Given the description of an element on the screen output the (x, y) to click on. 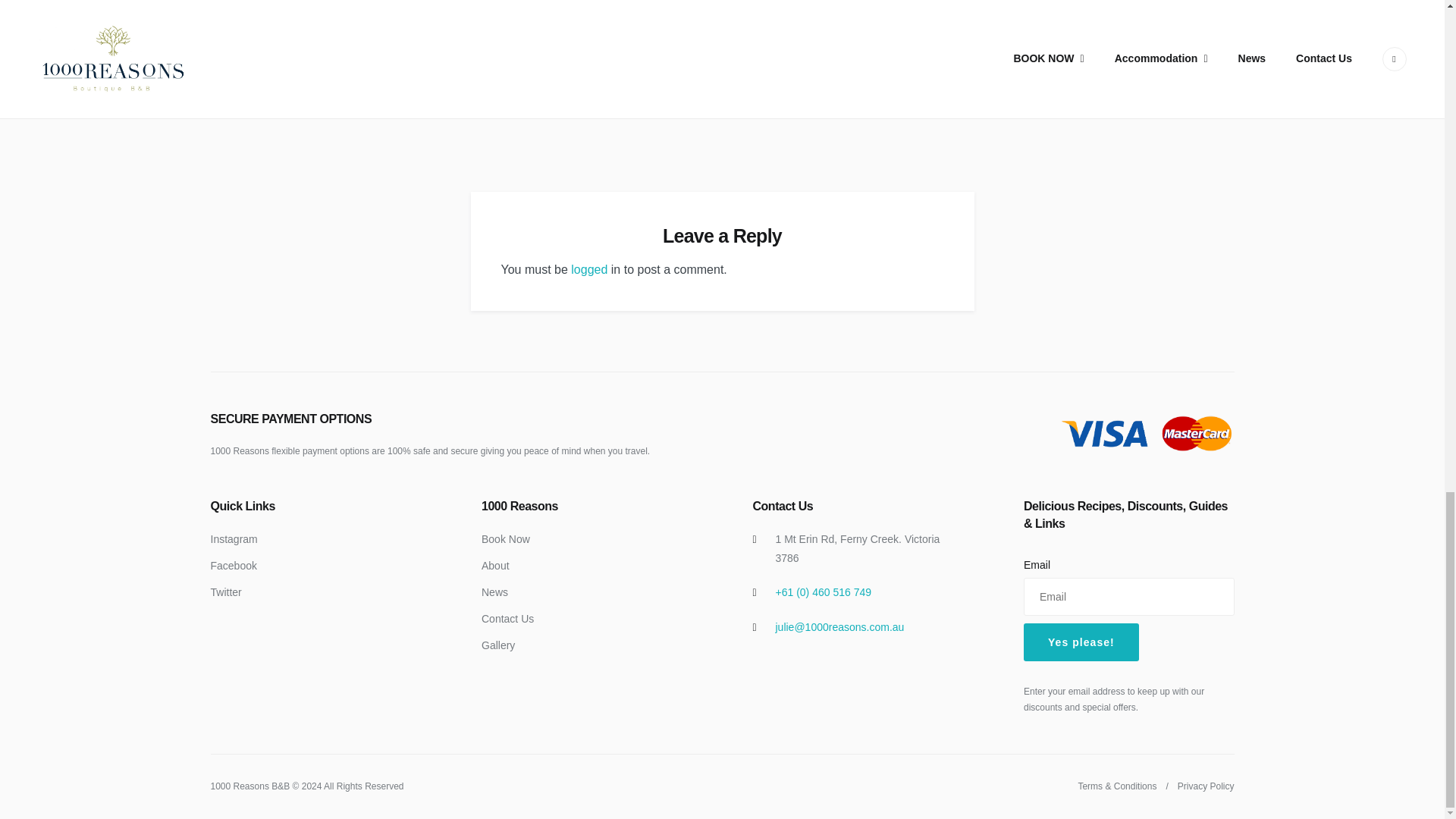
Instagram (234, 539)
Facebook (234, 565)
Book Now (505, 539)
Twitter (226, 592)
logged (588, 269)
